Given the description of an element on the screen output the (x, y) to click on. 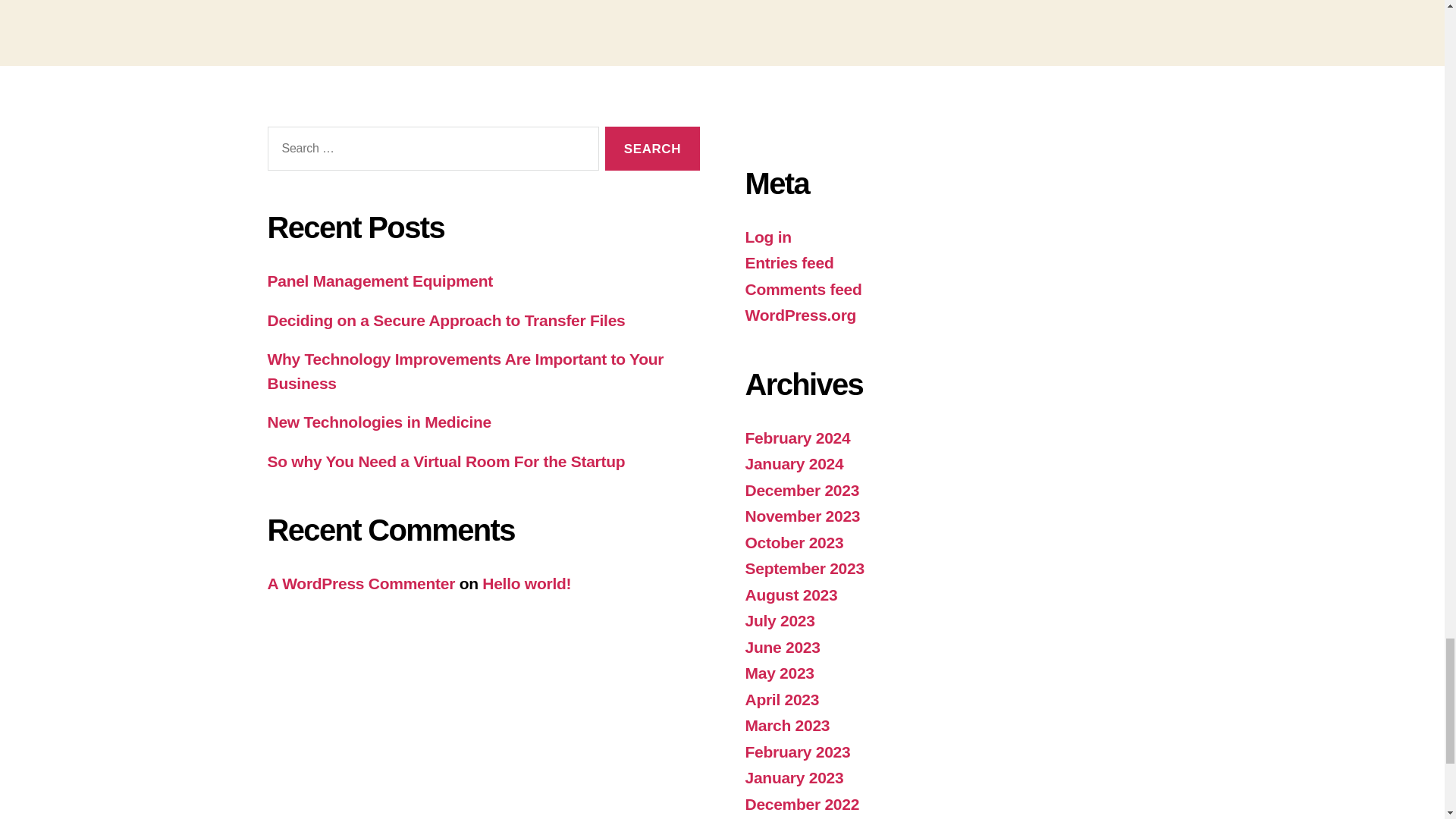
New Technologies in Medicine (378, 421)
Deciding on a Secure Approach to Transfer Files (445, 320)
Search (651, 148)
Search (651, 148)
A WordPress Commenter (360, 583)
So why You Need a Virtual Room For the Startup (445, 461)
Hello world! (525, 583)
Panel Management Equipment (379, 280)
Why Technology Improvements Are Important to Your Business (464, 371)
Search (651, 148)
